Given the description of an element on the screen output the (x, y) to click on. 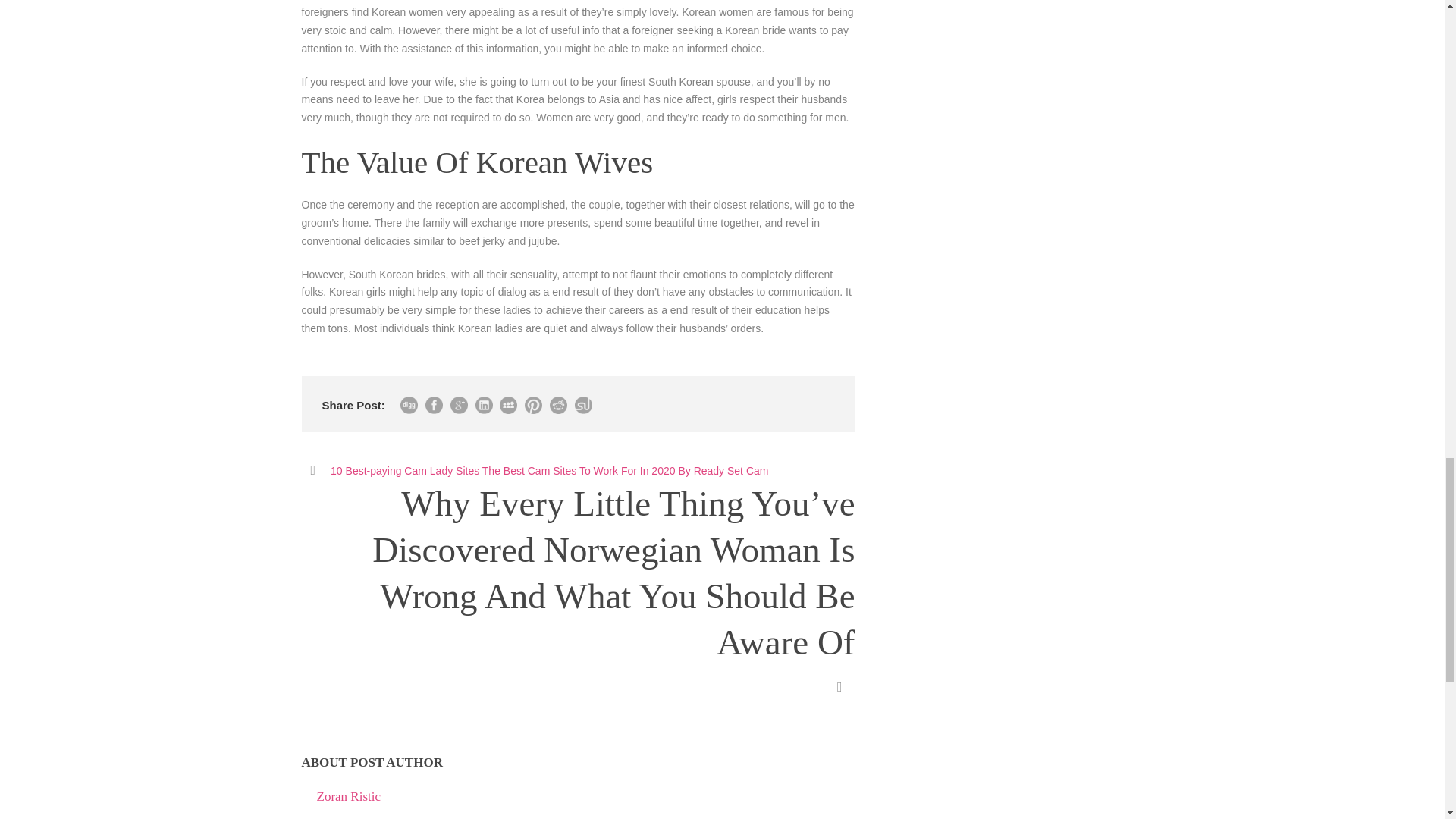
Zoran Ristic (349, 796)
Posts by Zoran Ristic (349, 796)
